Given the description of an element on the screen output the (x, y) to click on. 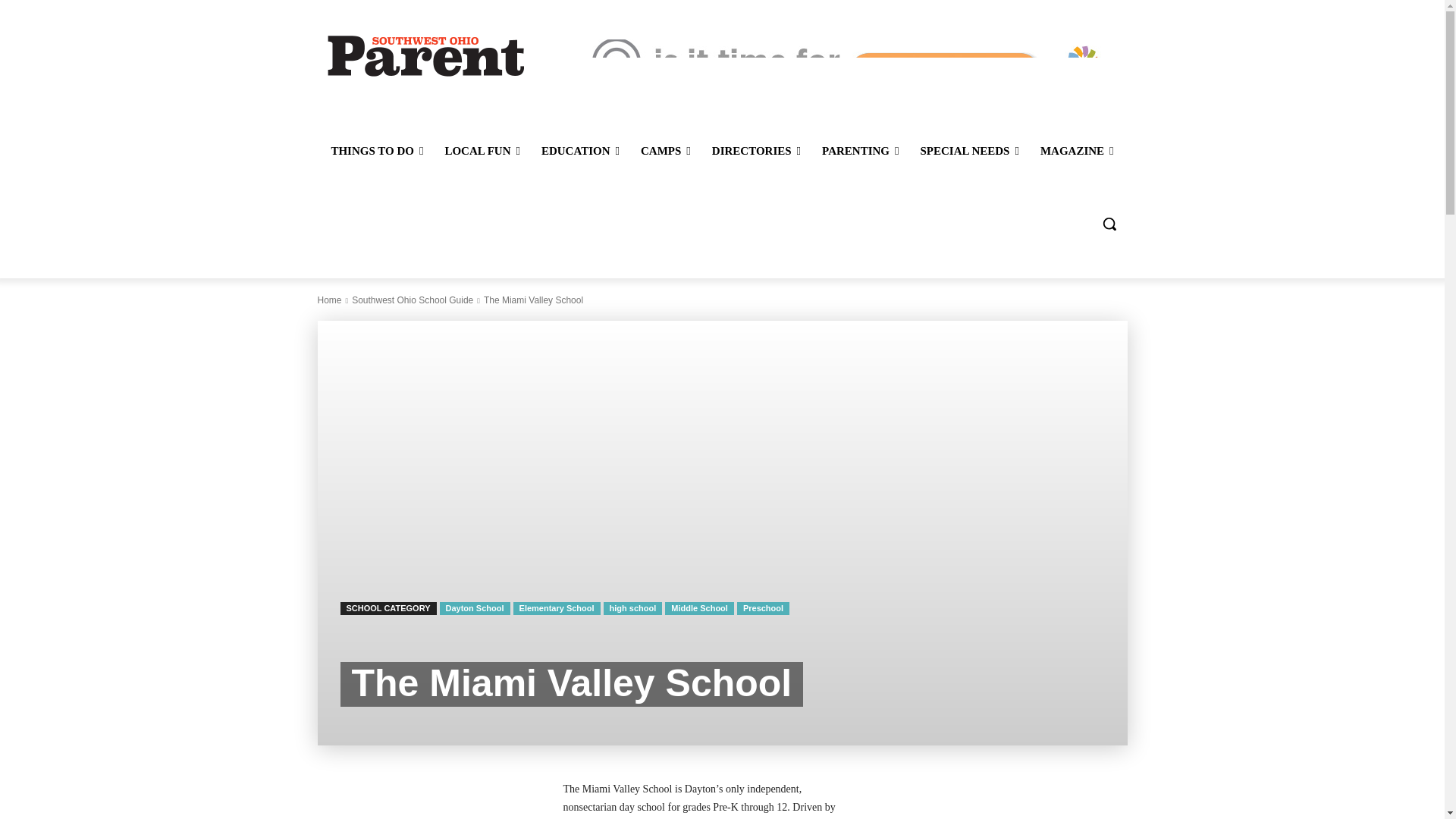
View all posts in Southwest Ohio School Guide (412, 299)
Southwest Ohio Parent Magazine (426, 55)
Southwest Ohio Parent Magazine (425, 55)
